Given the description of an element on the screen output the (x, y) to click on. 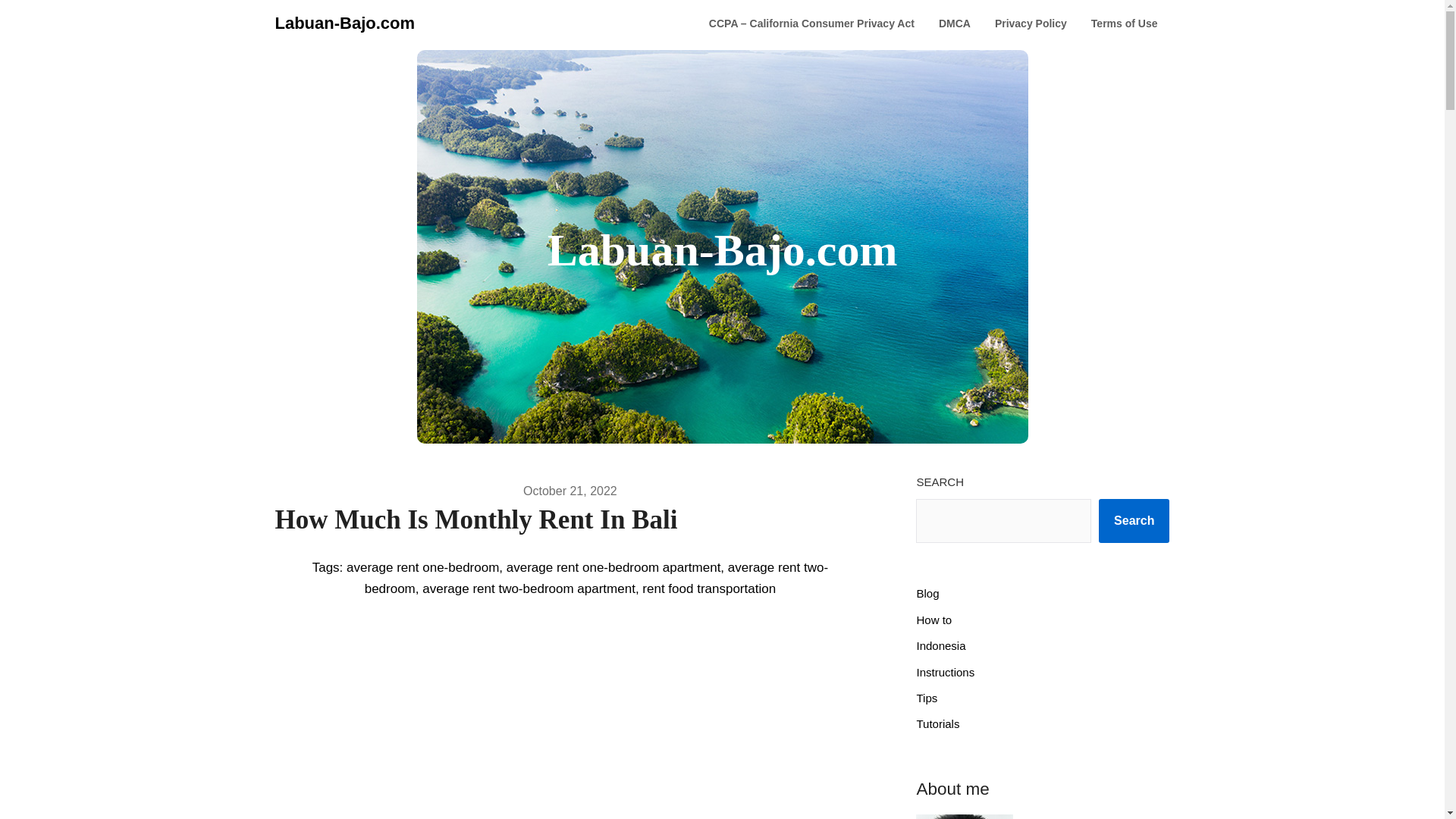
average rent one-bedroom apartment (613, 567)
Search (1134, 520)
rent food transportation (709, 588)
Blog (927, 593)
DMCA (954, 24)
average rent two-bedroom apartment (528, 588)
average rent two-bedroom (596, 578)
October 21, 2022 (569, 490)
Privacy Policy (1030, 24)
Terms of Use (1124, 24)
average rent one-bedroom (422, 567)
How to (933, 619)
Labuan-Bajo.com (344, 22)
